Given the description of an element on the screen output the (x, y) to click on. 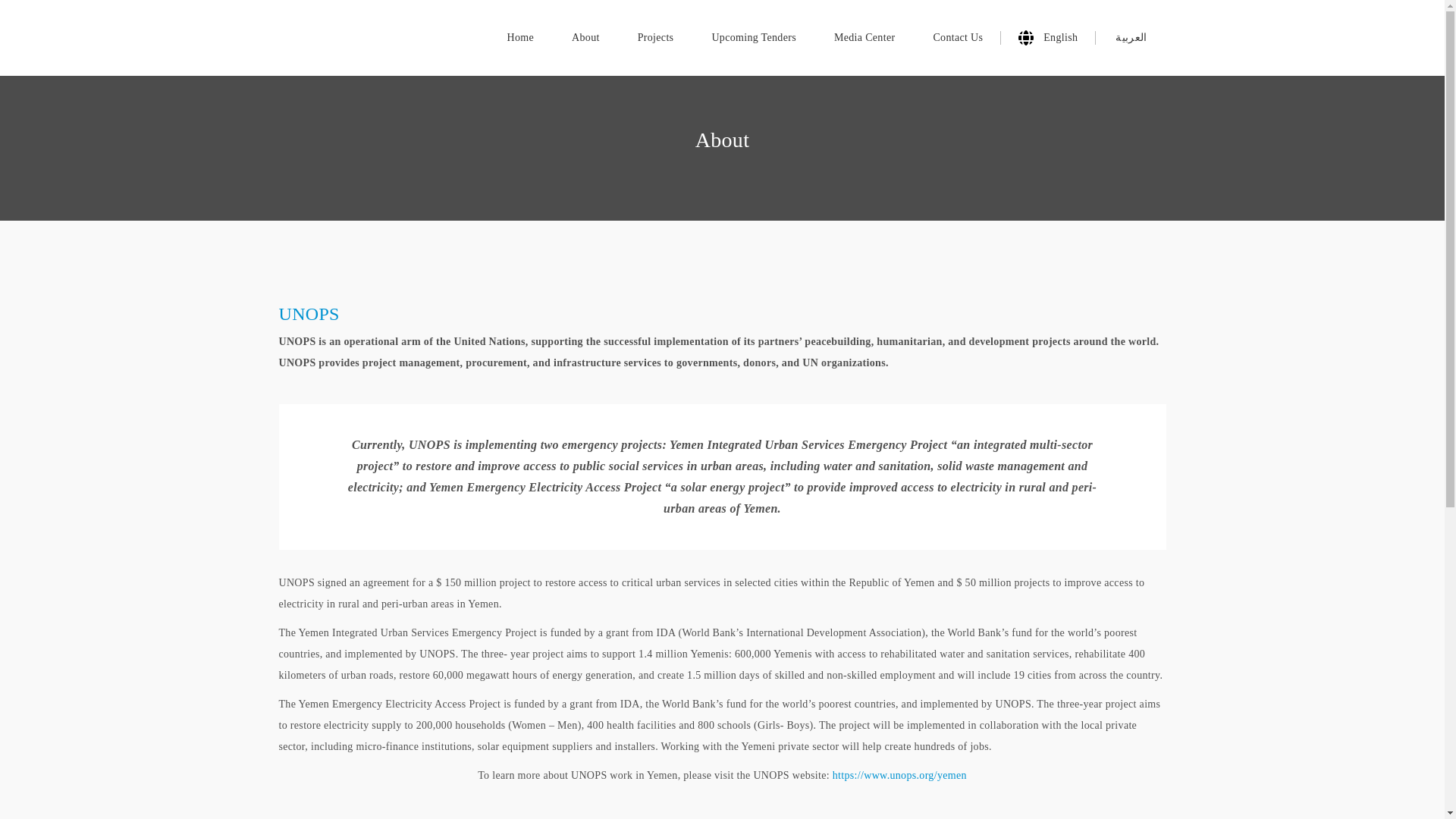
Projects (655, 38)
Media Center (864, 38)
English (1056, 38)
Upcoming Tenders (754, 38)
Contact Us (957, 38)
Upcoming Tenders (754, 38)
English (1056, 38)
